Given the description of an element on the screen output the (x, y) to click on. 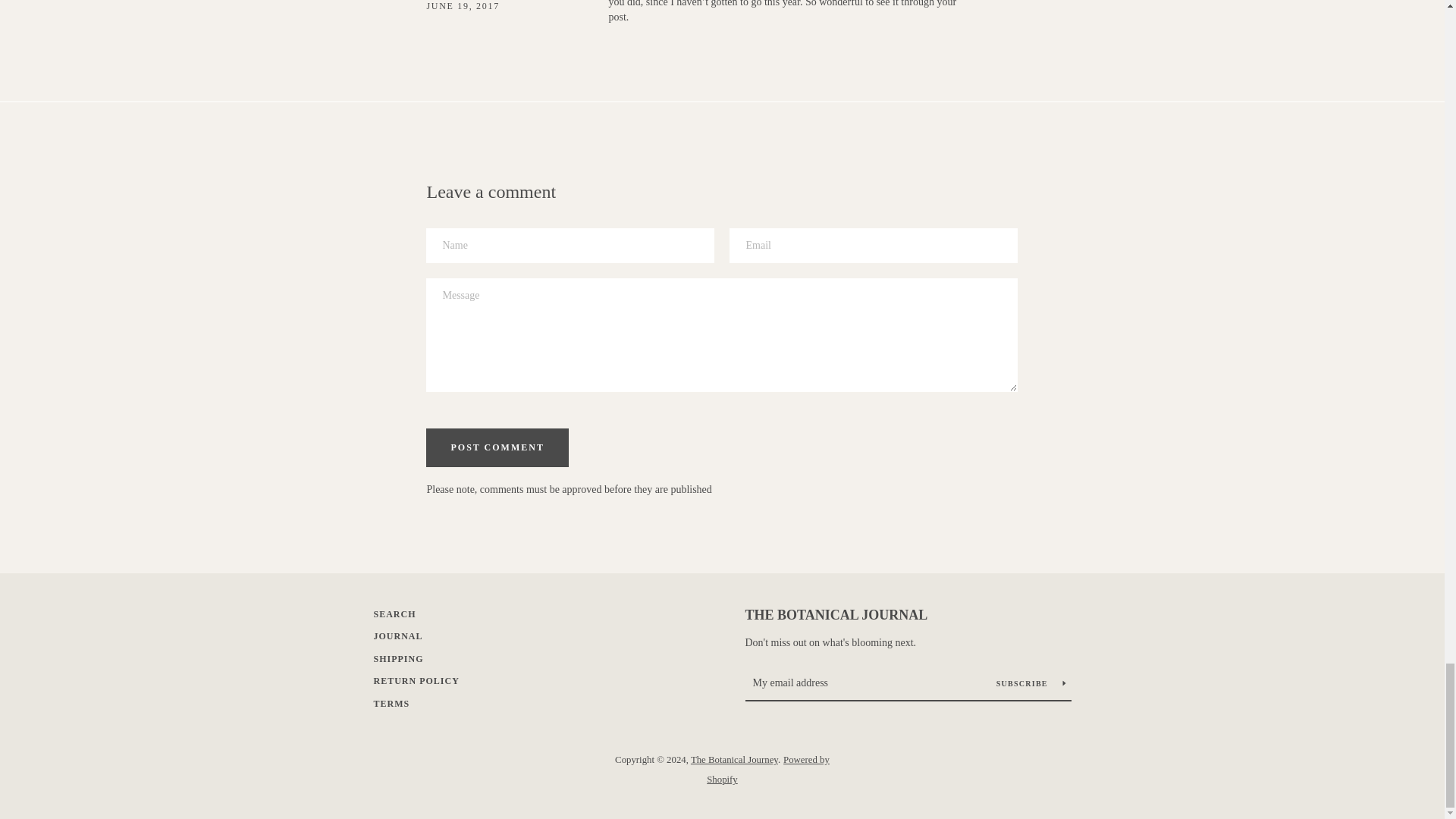
TERMS (390, 703)
Post comment (496, 447)
RETURN POLICY (415, 680)
JOURNAL (397, 635)
Post comment (496, 447)
SUBSCRIBE (1031, 683)
SHIPPING (397, 658)
SEARCH (393, 614)
